Given the description of an element on the screen output the (x, y) to click on. 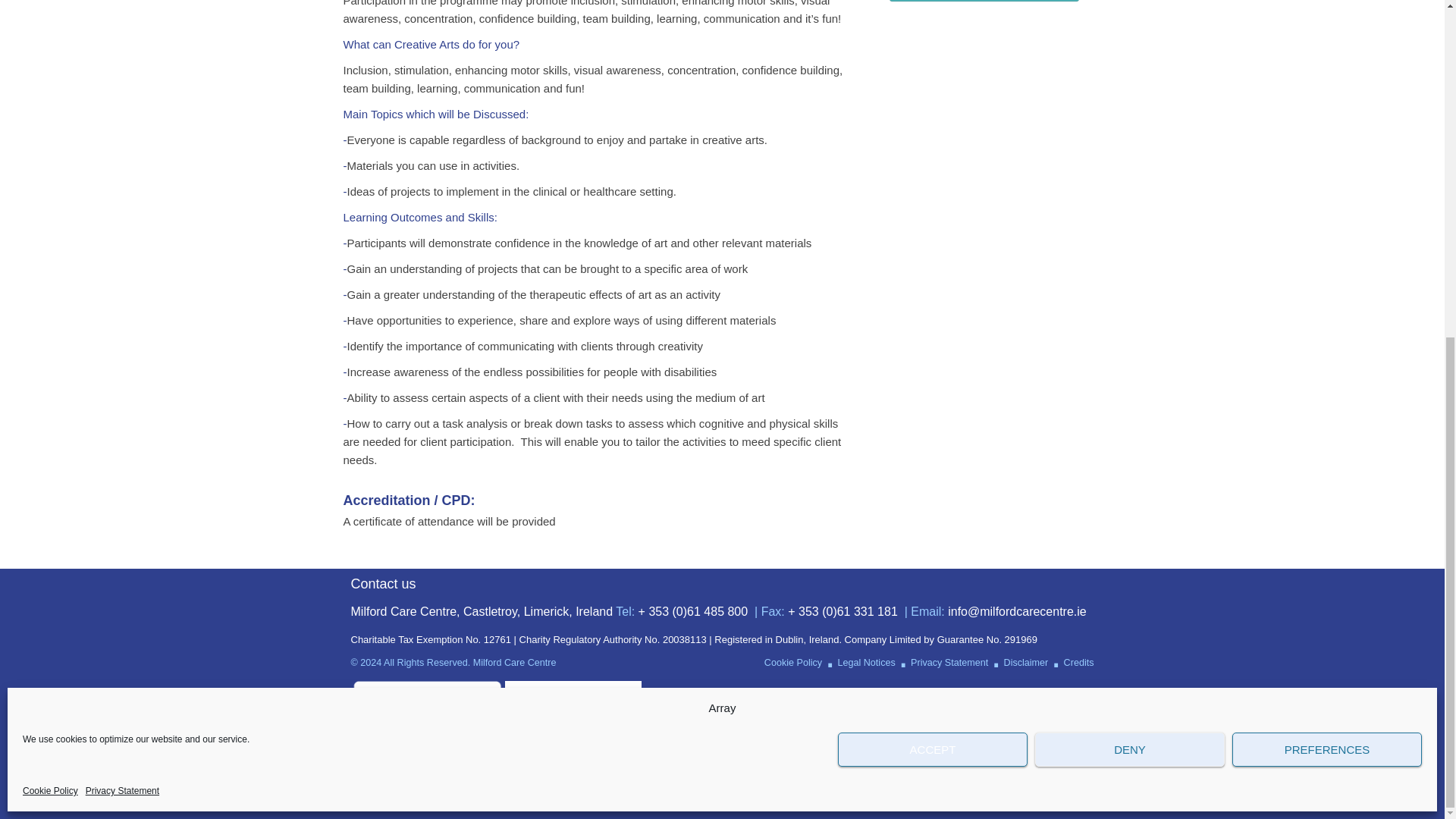
ACCEPT (932, 180)
PREFERENCES (1326, 180)
Privacy Statement (121, 221)
DENY (1129, 180)
Cookie Policy (50, 221)
